Given the description of an element on the screen output the (x, y) to click on. 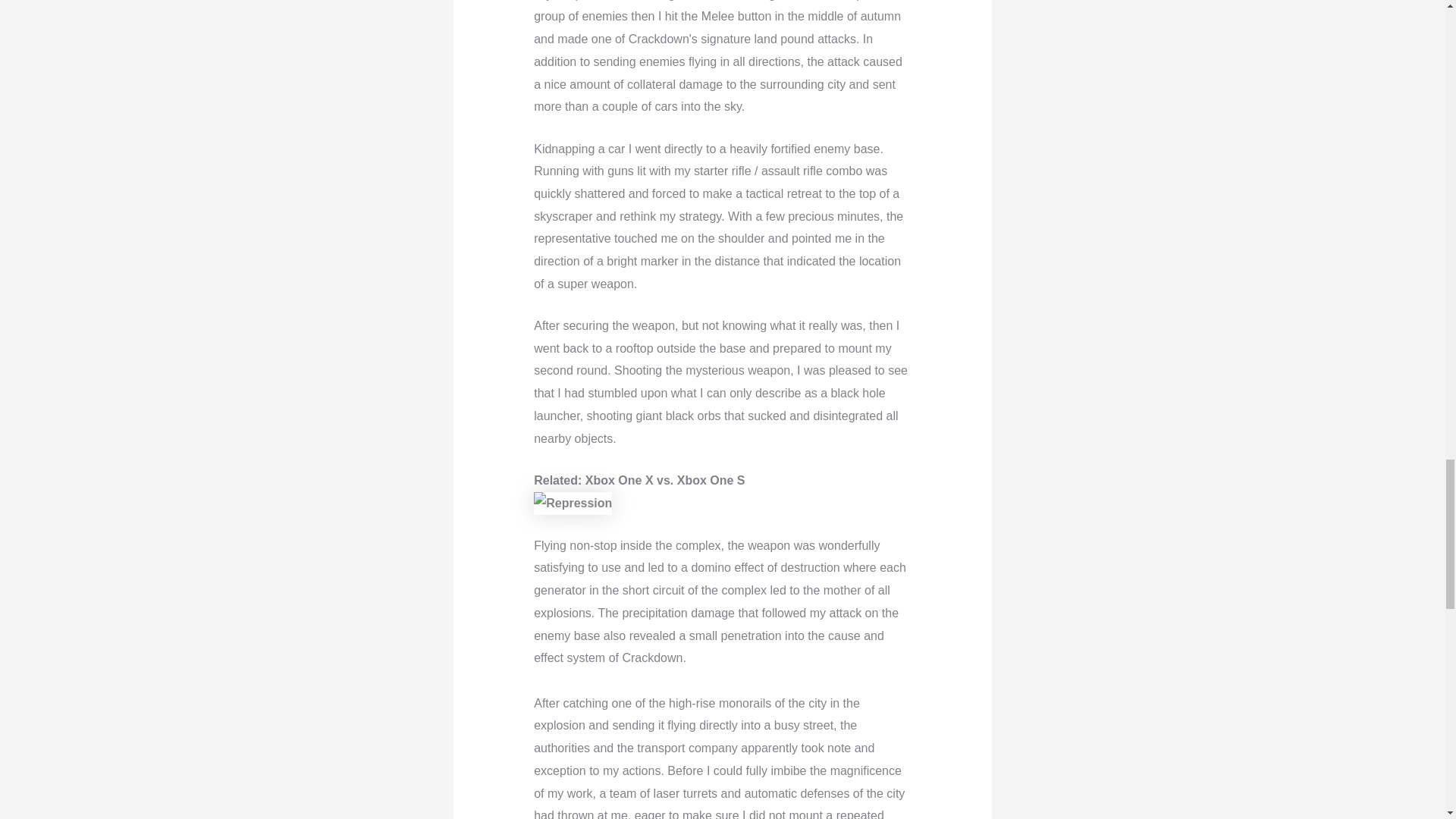
crackdown (572, 503)
